Given the description of an element on the screen output the (x, y) to click on. 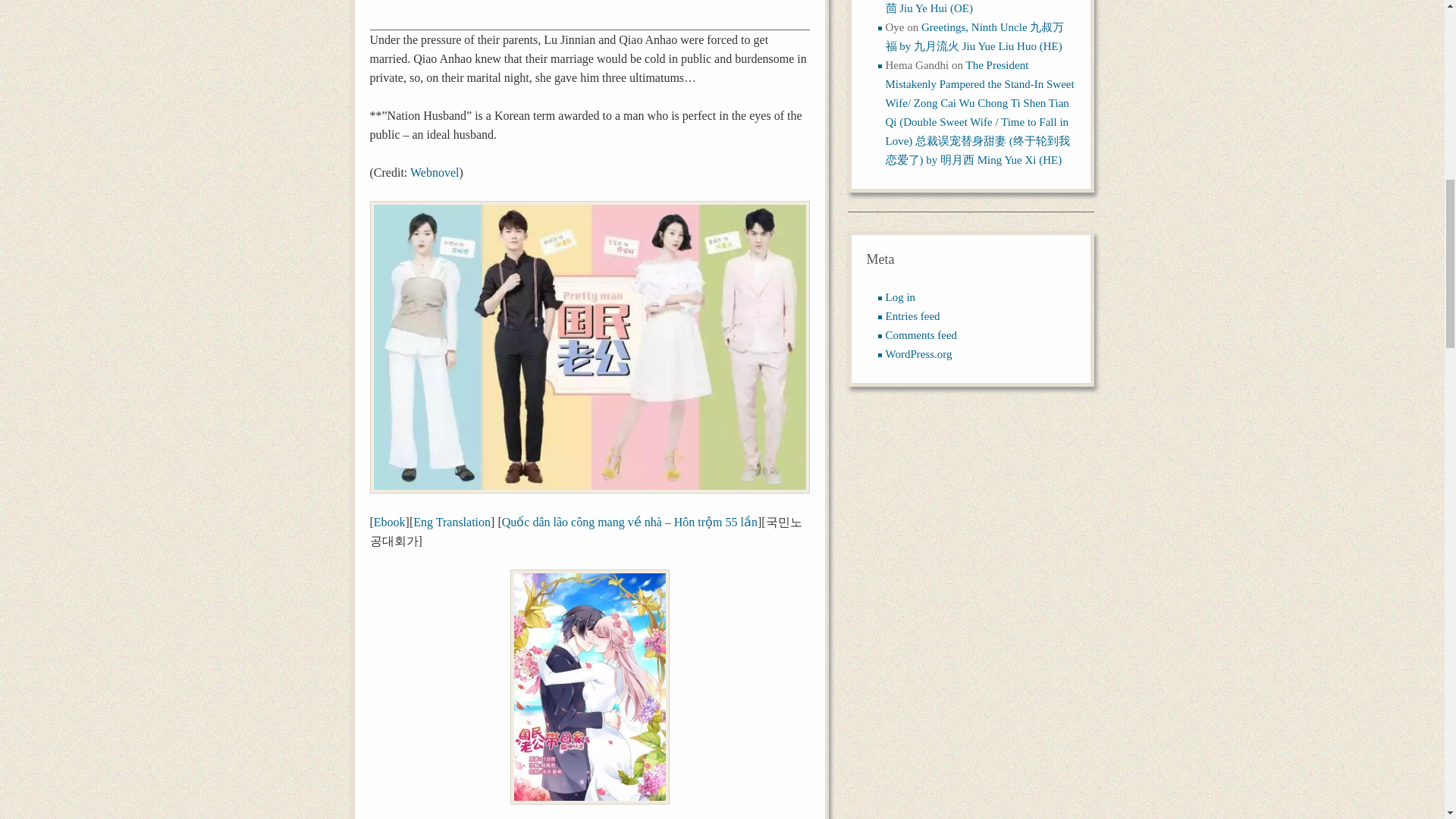
Eng Translation (451, 521)
Advertisement (589, 14)
Webnovel (434, 172)
Ebook (390, 521)
